Given the description of an element on the screen output the (x, y) to click on. 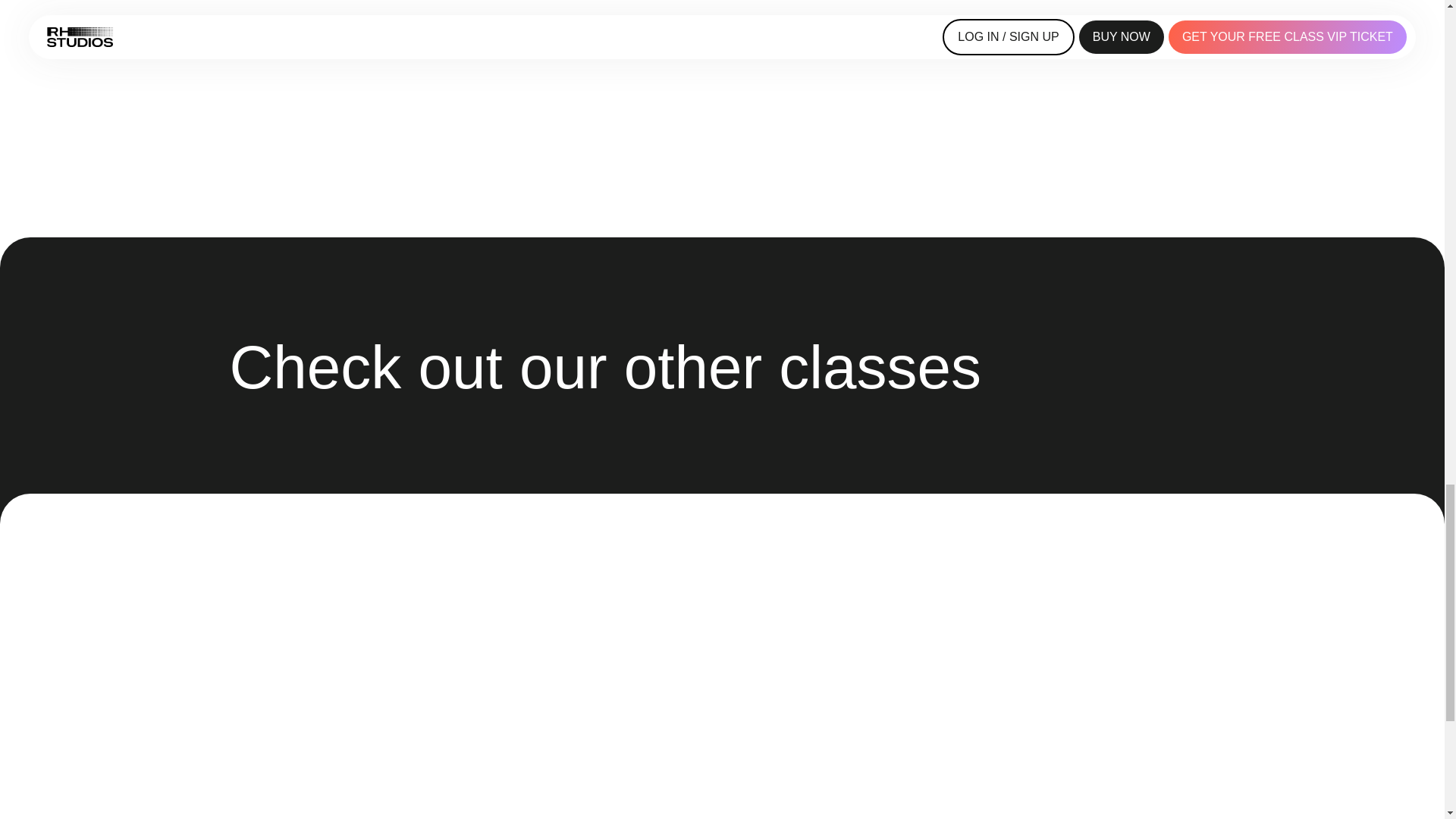
Check out our other classes (721, 367)
